Given the description of an element on the screen output the (x, y) to click on. 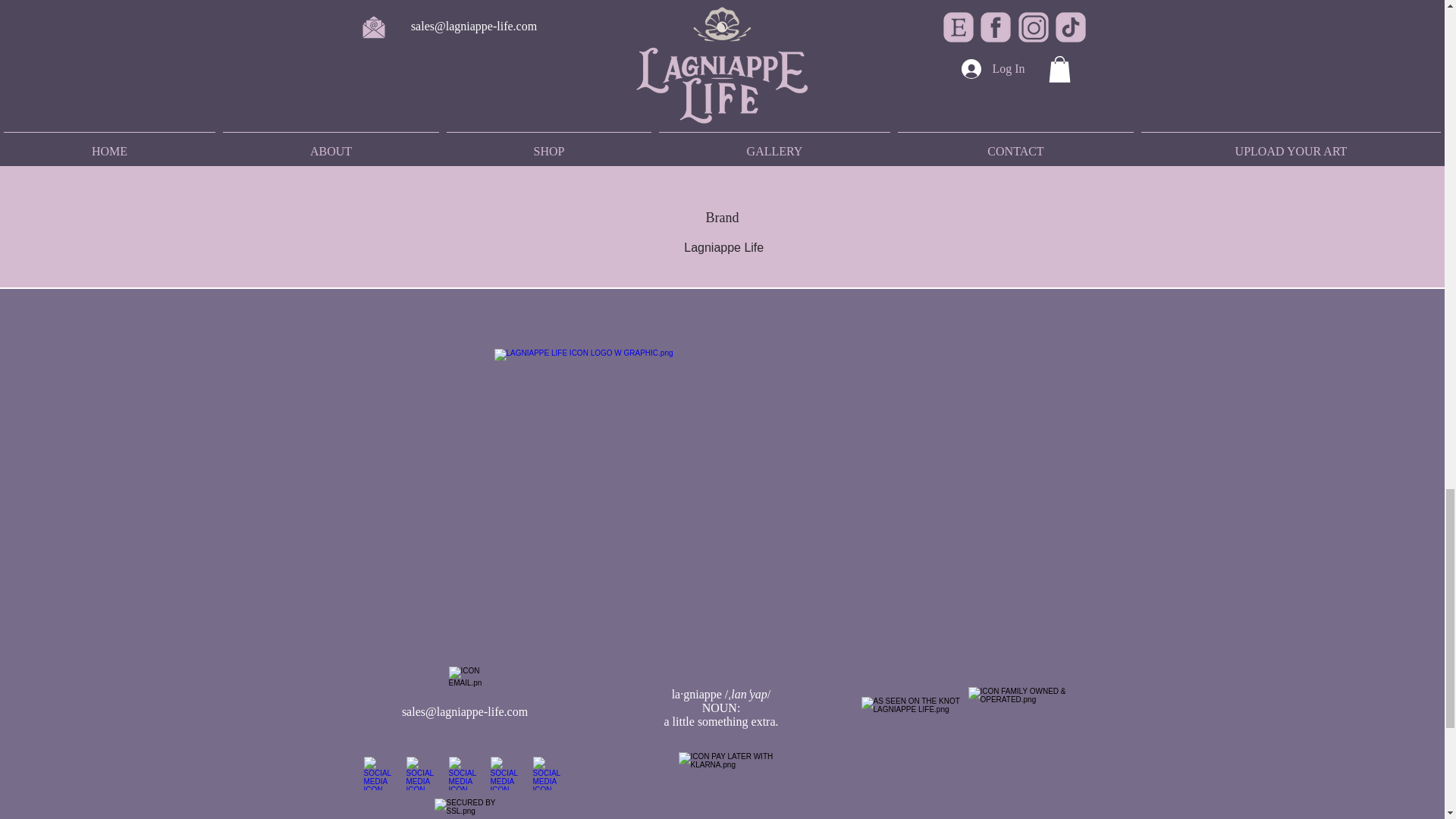
1 (722, 12)
Add to Cart (721, 64)
